Given the description of an element on the screen output the (x, y) to click on. 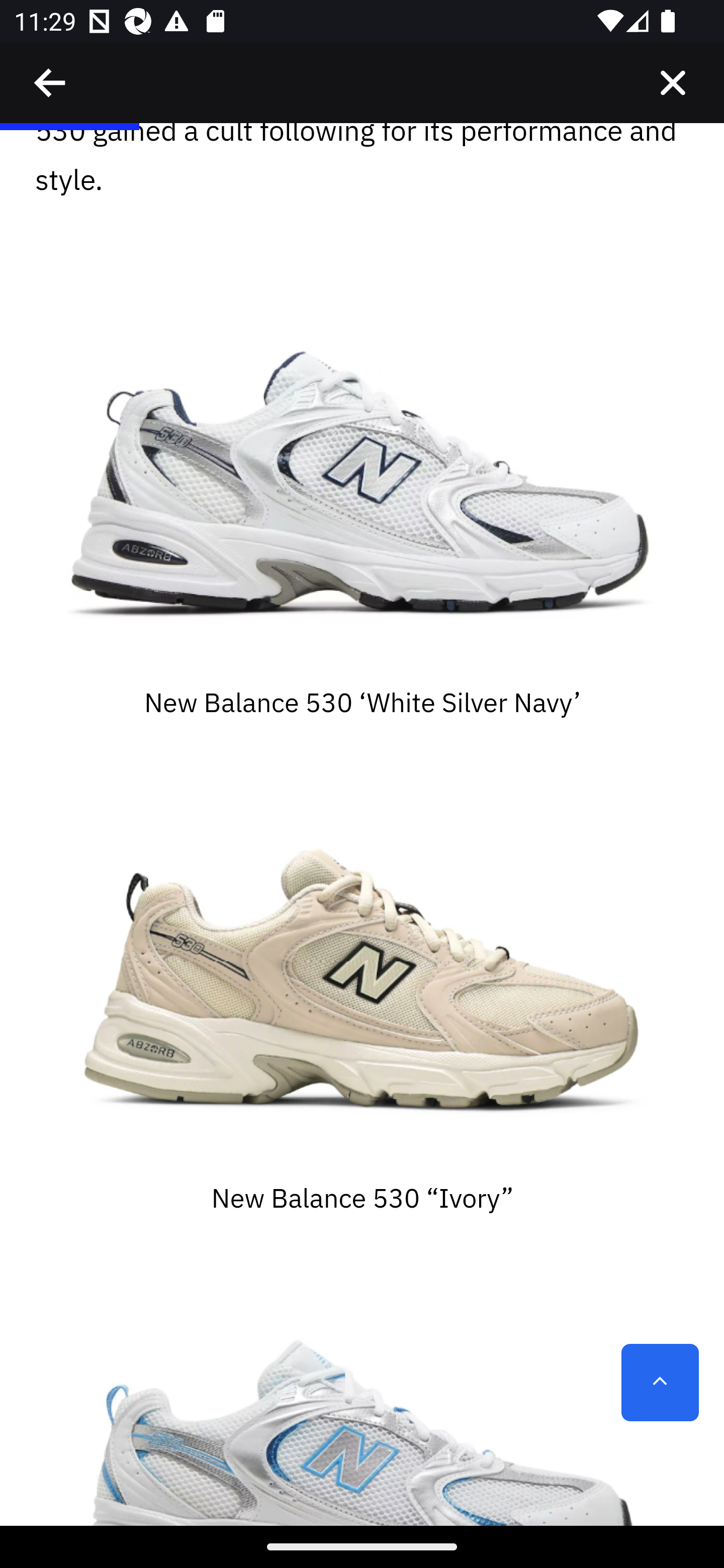
 (50, 83)
 (672, 83)
New Balance 530 'White Silver Navy' MR530SG (361, 475)
New Balance 530 _Ivory_ MR530SH (361, 970)
New Balance 530 'White Sky Blue' MR530DRW (361, 1392)
Scroll to top  (659, 1382)
